Given the description of an element on the screen output the (x, y) to click on. 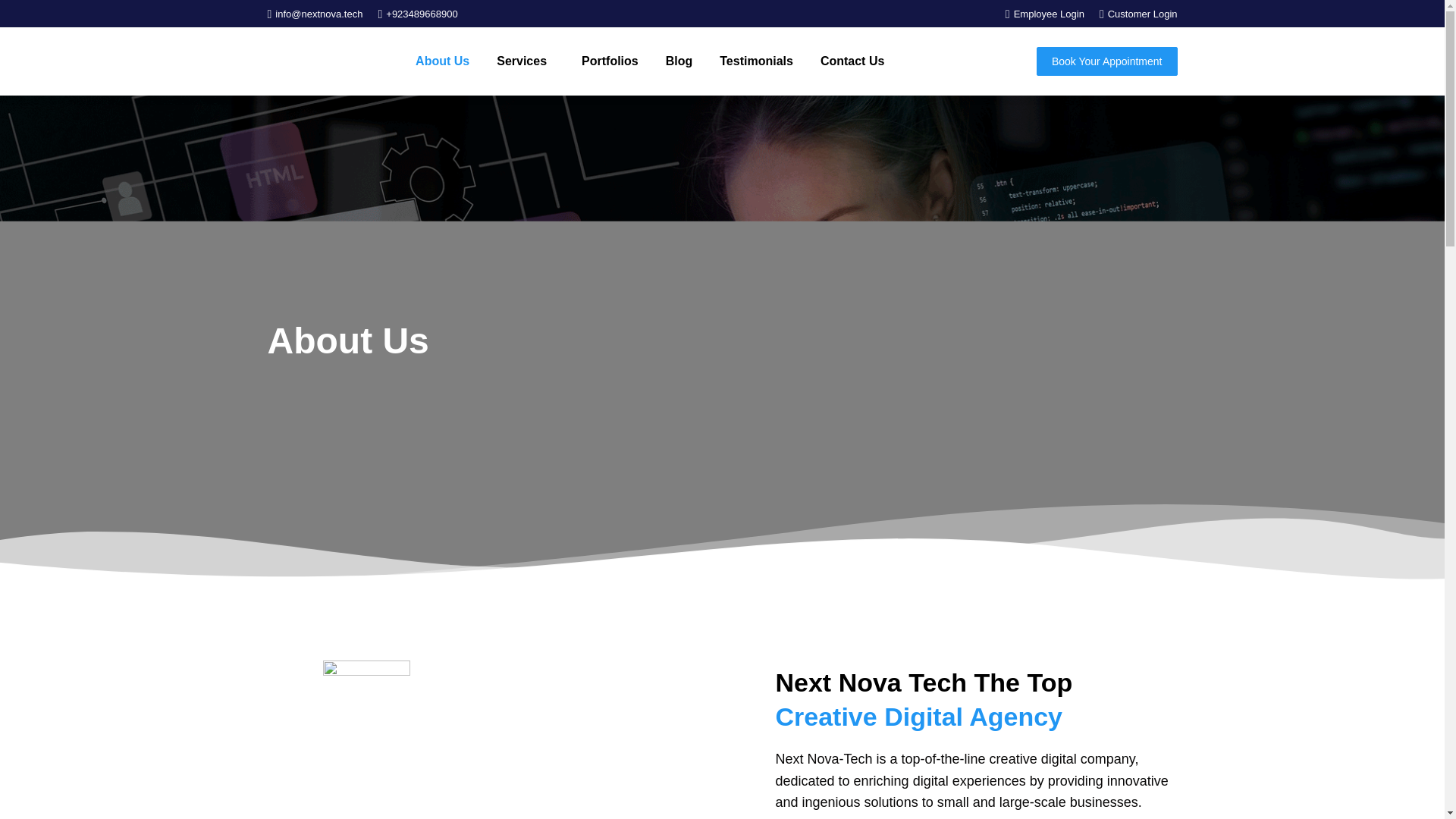
About Us (441, 60)
Testimonials (756, 60)
Contact Us (851, 60)
Portfolios (610, 60)
Employee Login (1045, 12)
Customer Login (1138, 12)
Services (525, 60)
Book Your Appointment (1106, 61)
